Given the description of an element on the screen output the (x, y) to click on. 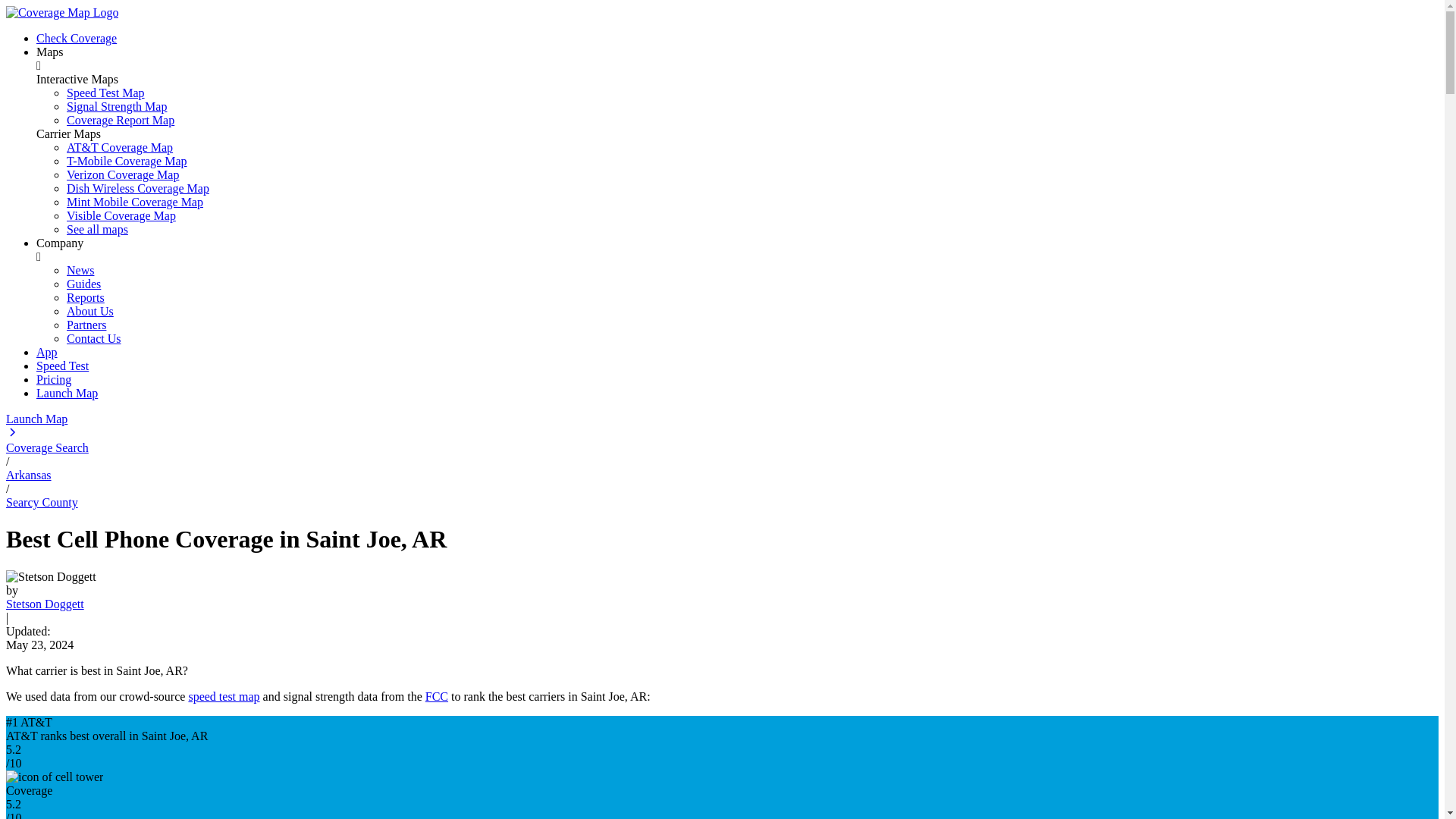
Coverage Search (46, 447)
Coverage Report Map (120, 119)
News (80, 269)
App (47, 351)
speed test map (223, 696)
Visible Coverage Map (121, 215)
See all maps (97, 228)
T-Mobile Coverage Map (126, 160)
Guides (83, 283)
Partners (86, 324)
About Us (89, 310)
Pricing (53, 379)
Speed Test Map (105, 92)
Signal Strength Map (116, 106)
Contact Us (93, 338)
